Given the description of an element on the screen output the (x, y) to click on. 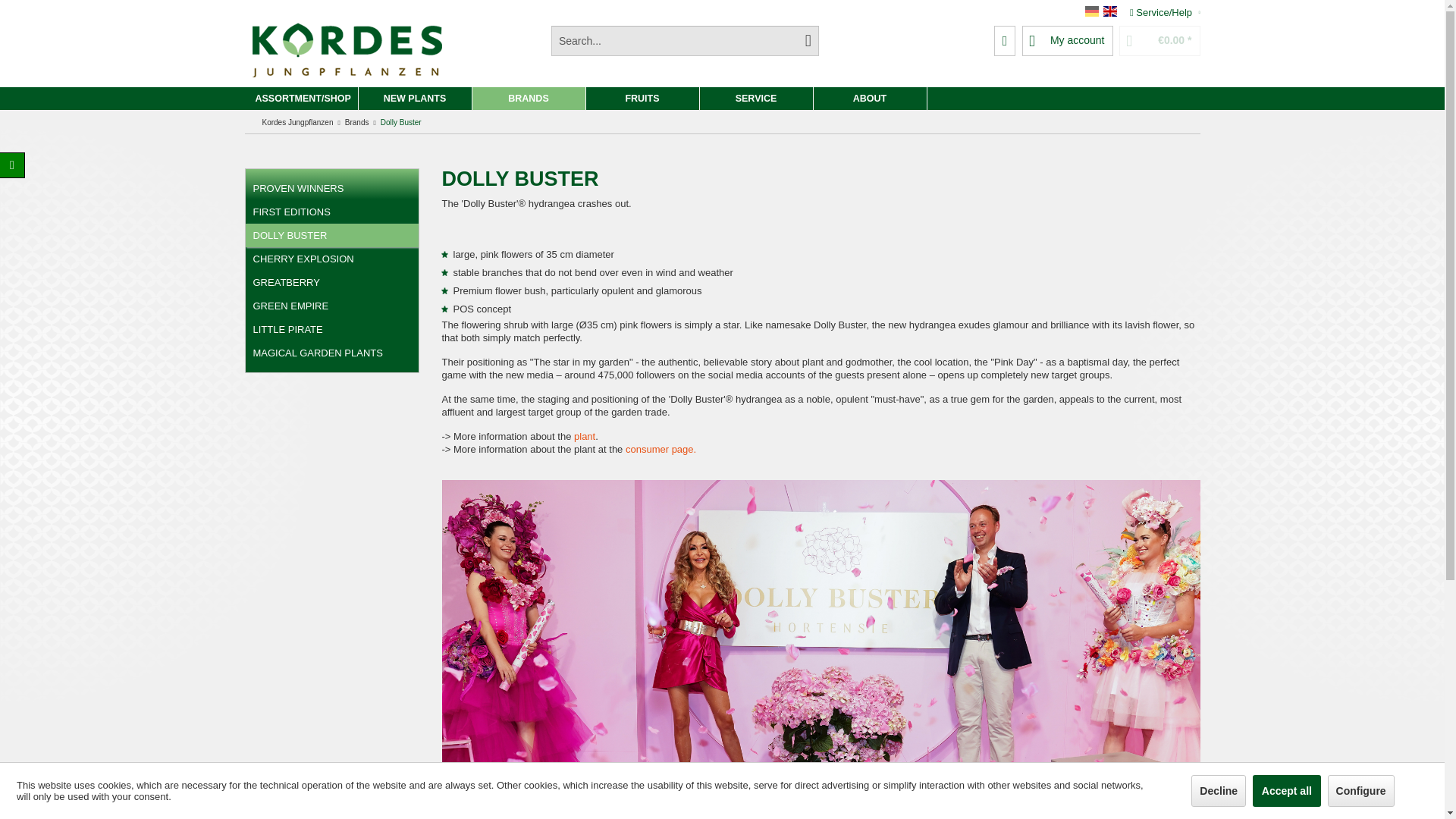
New plants (414, 97)
NEW PLANTS (414, 97)
Kordes Jungpflanzen - Switch to homepage (346, 52)
FRUITS (641, 97)
NEW PLANTS (414, 97)
My account (1067, 40)
My account (1067, 40)
Shopping cart (1159, 40)
BRANDS (528, 97)
SERVICE (755, 97)
BRANDS (528, 97)
ABOUT (869, 97)
FRUITS (641, 97)
Wish list (1005, 40)
